Given the description of an element on the screen output the (x, y) to click on. 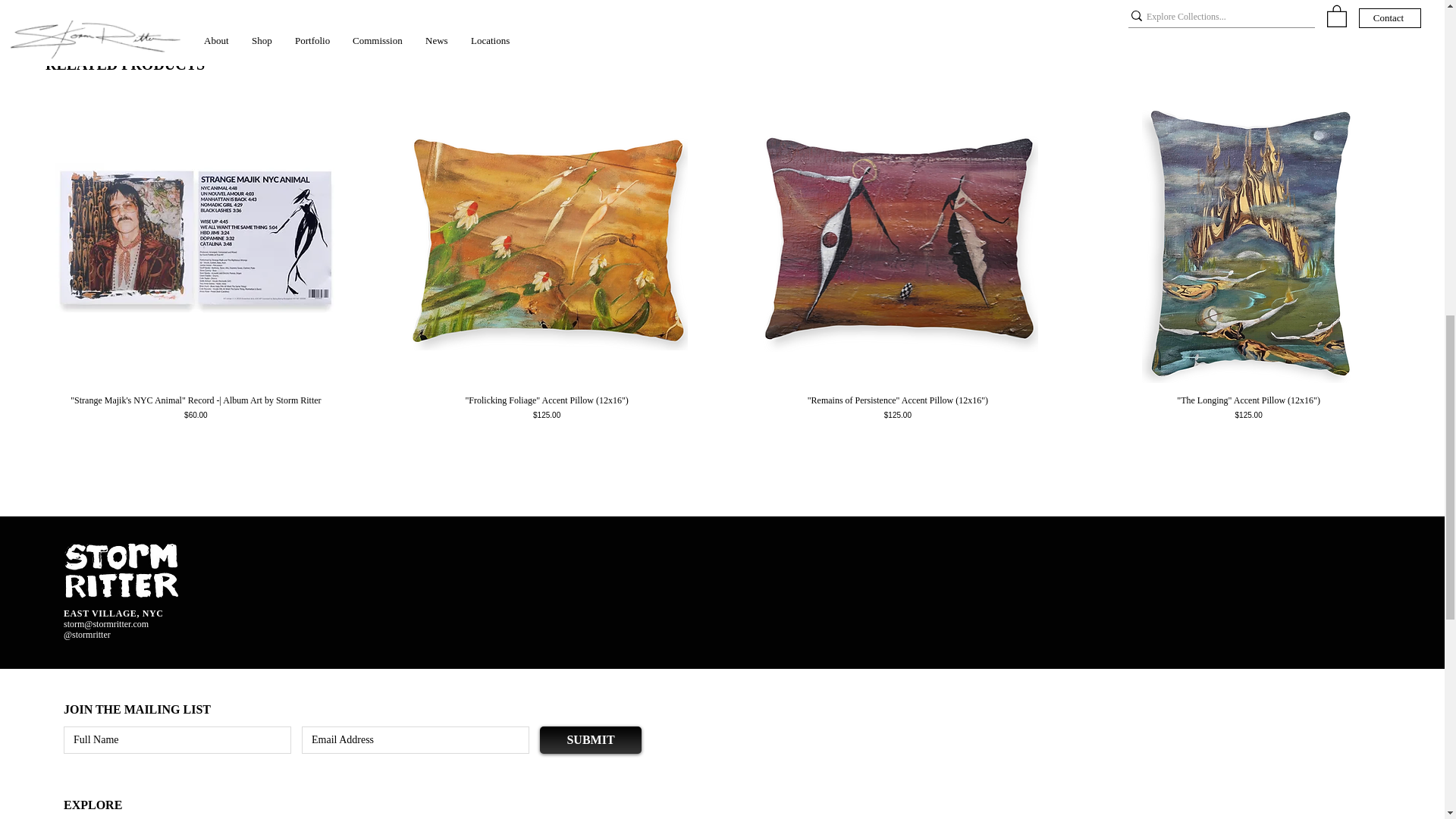
Commission (1299, 6)
Fine Art (143, 6)
Merchandise (721, 6)
Painted Fashion (1011, 6)
Art Prints (433, 6)
